Given the description of an element on the screen output the (x, y) to click on. 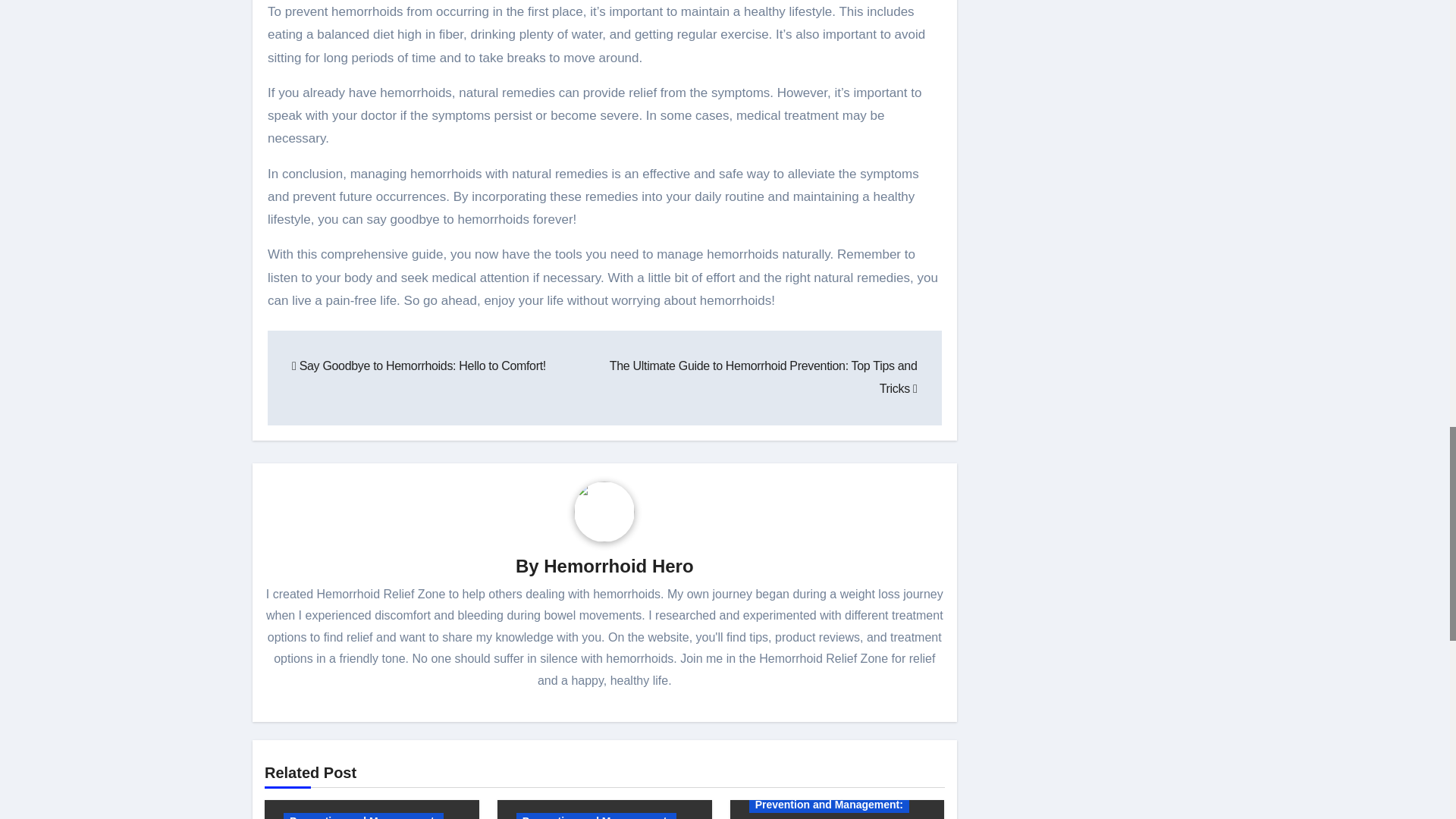
Prevention and Management: (596, 816)
Say Goodbye to Hemorrhoids: Hello to Comfort! (419, 365)
Prevention and Management: (363, 816)
Hemorrhoid Hero (618, 566)
